Given the description of an element on the screen output the (x, y) to click on. 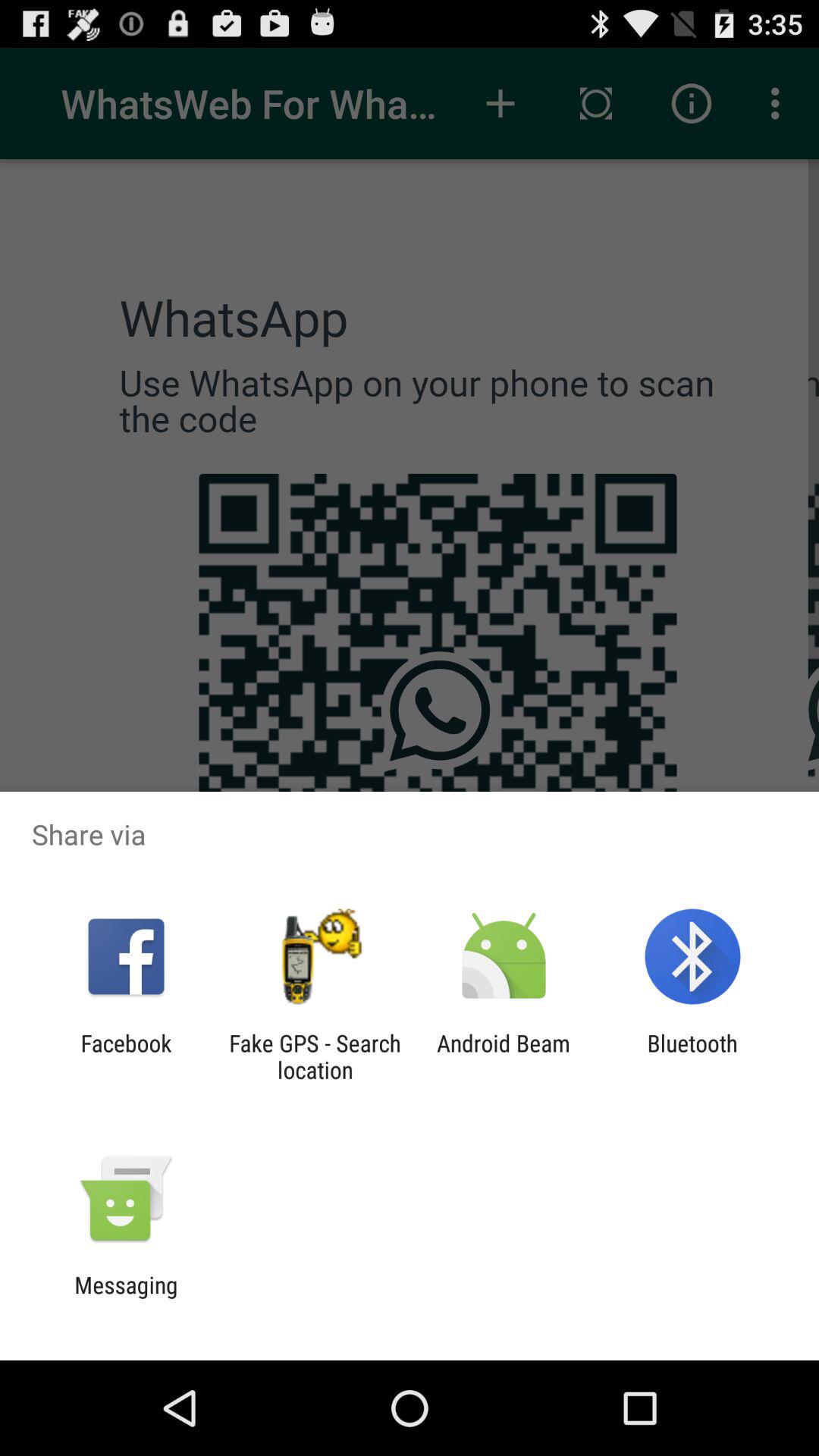
press the item to the right of facebook app (314, 1056)
